Given the description of an element on the screen output the (x, y) to click on. 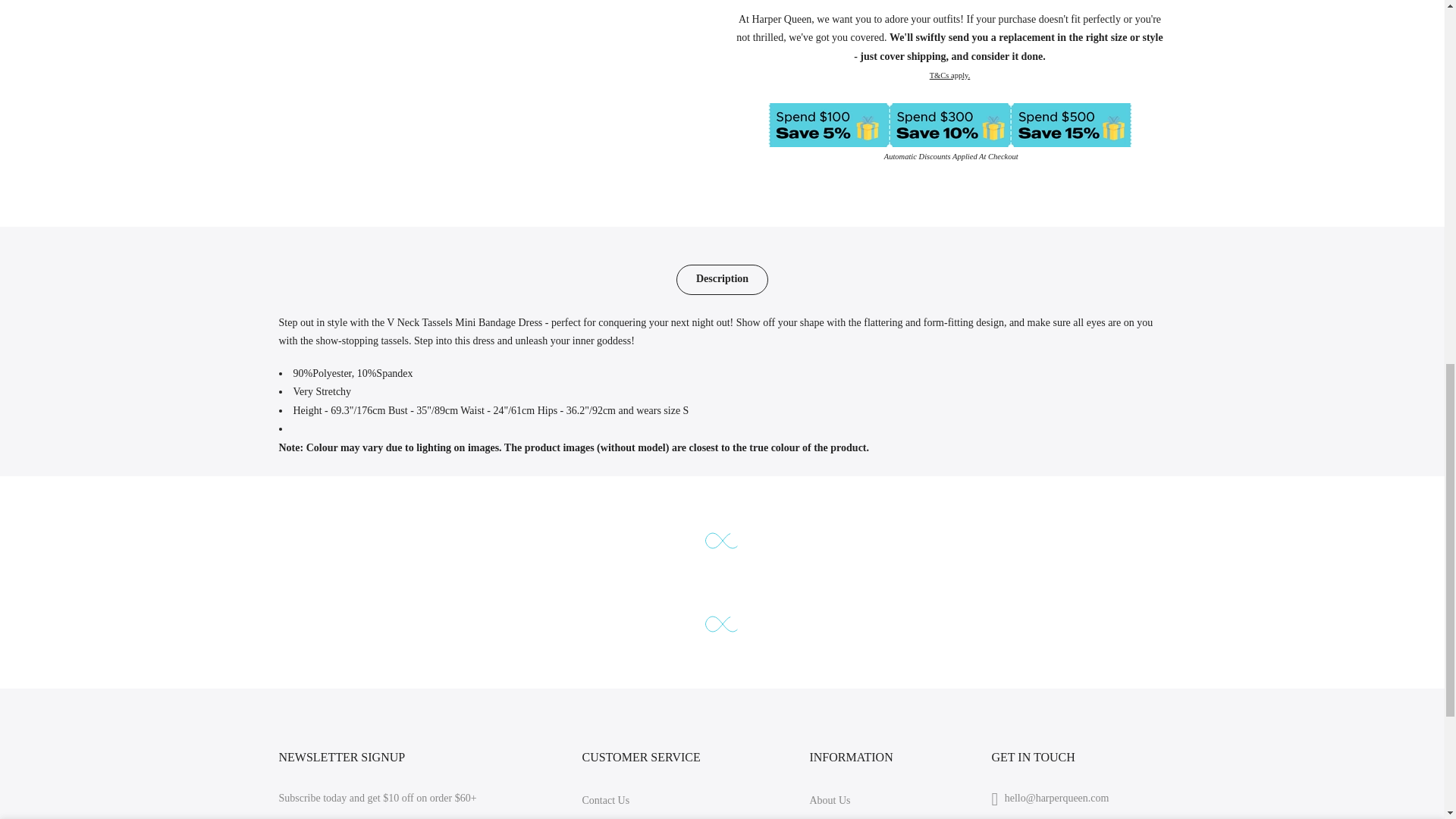
1 (1001, 35)
